Given the description of an element on the screen output the (x, y) to click on. 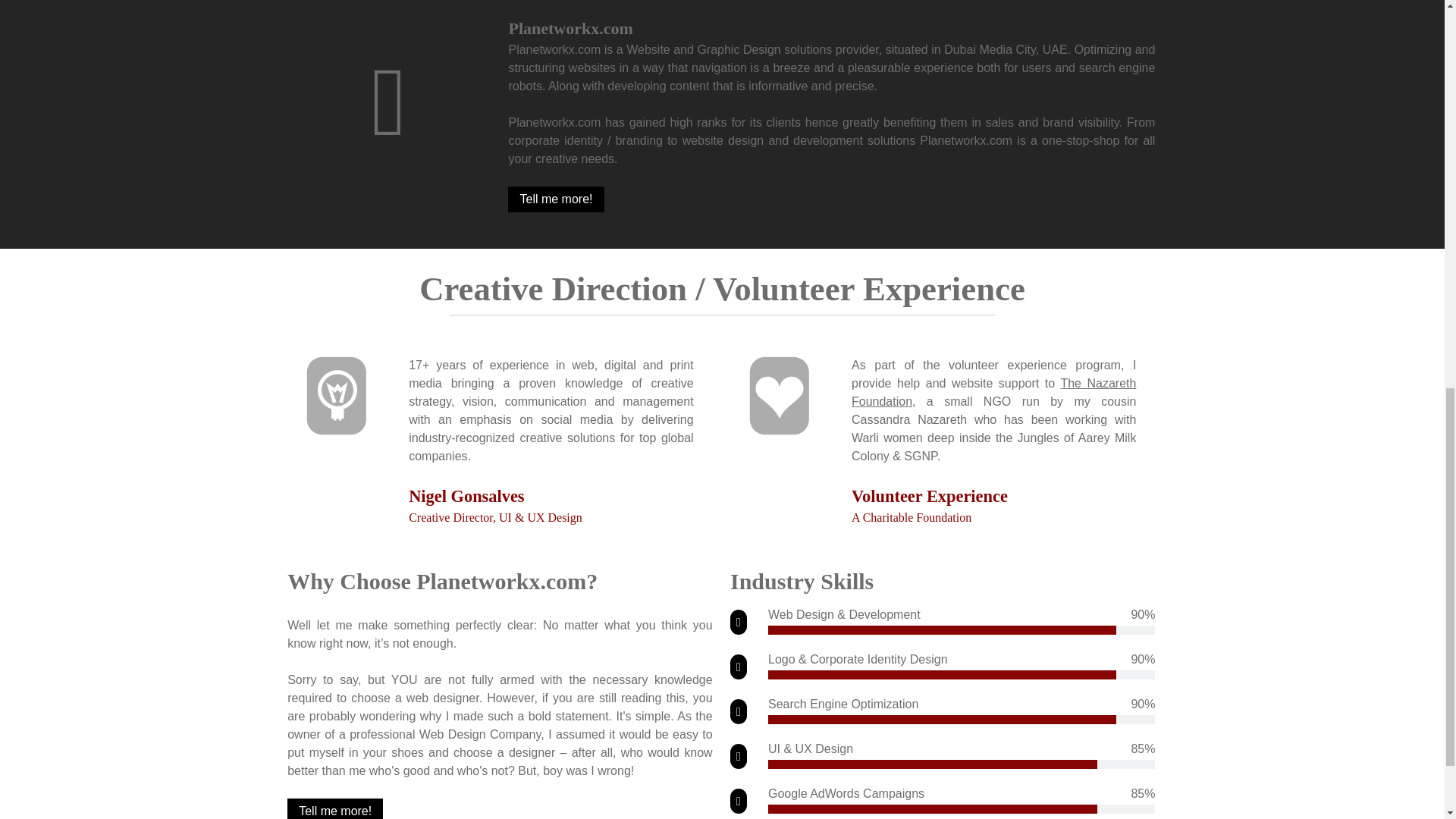
The Nazareth Foundation (993, 391)
Tell me more! (334, 808)
Tell me more! (556, 199)
